Given the description of an element on the screen output the (x, y) to click on. 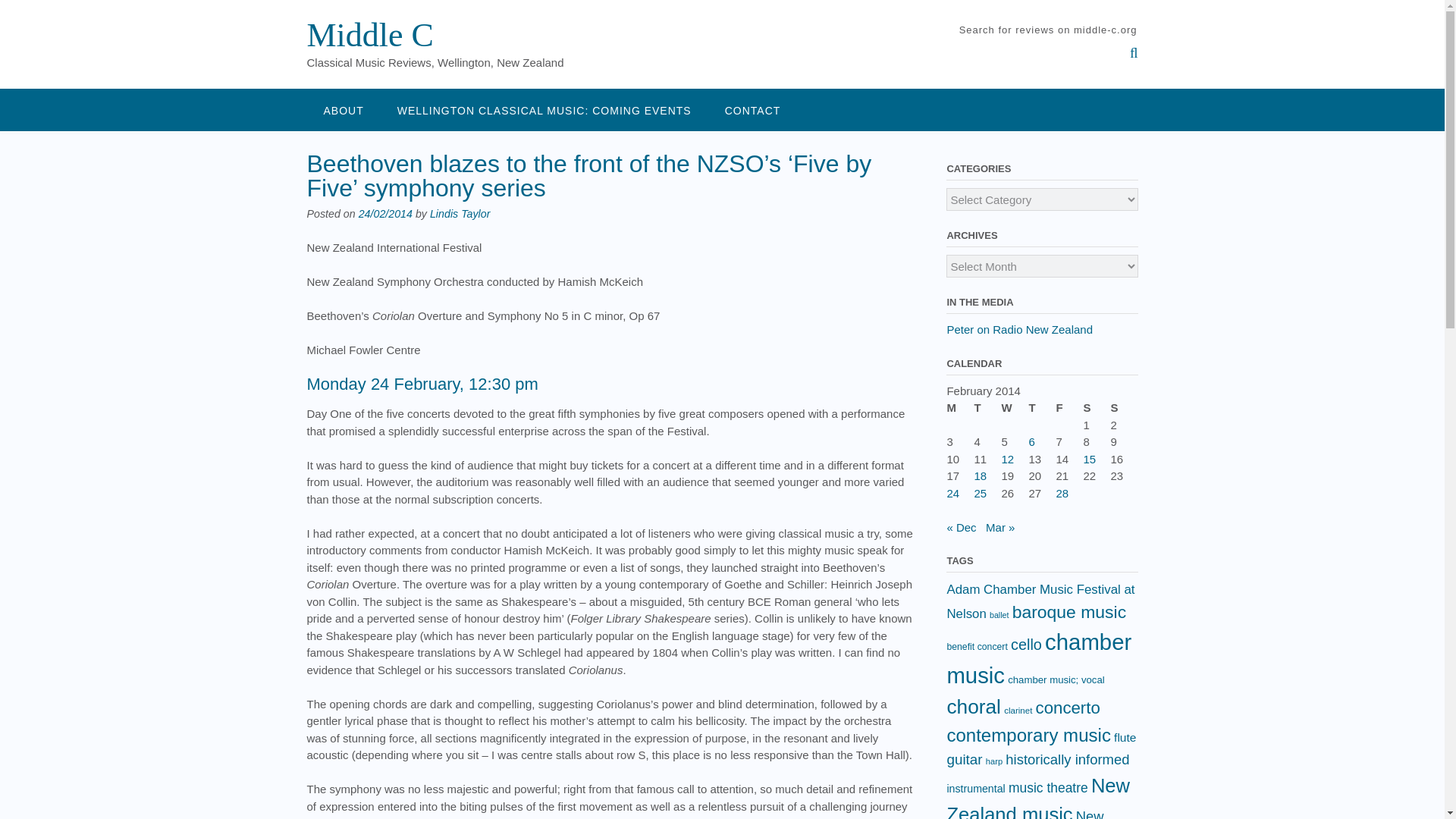
clarinet (1018, 709)
guitar (963, 759)
Peter on Radio New Zealand (1019, 328)
baroque music (1068, 611)
Monday (960, 407)
12 (1007, 458)
Sunday (1123, 407)
ABOUT (342, 109)
chamber music (1038, 658)
cello (1026, 644)
28 (1061, 492)
ballet (999, 614)
Middle C (368, 35)
CONTACT (752, 109)
Thursday (1041, 407)
